Given the description of an element on the screen output the (x, y) to click on. 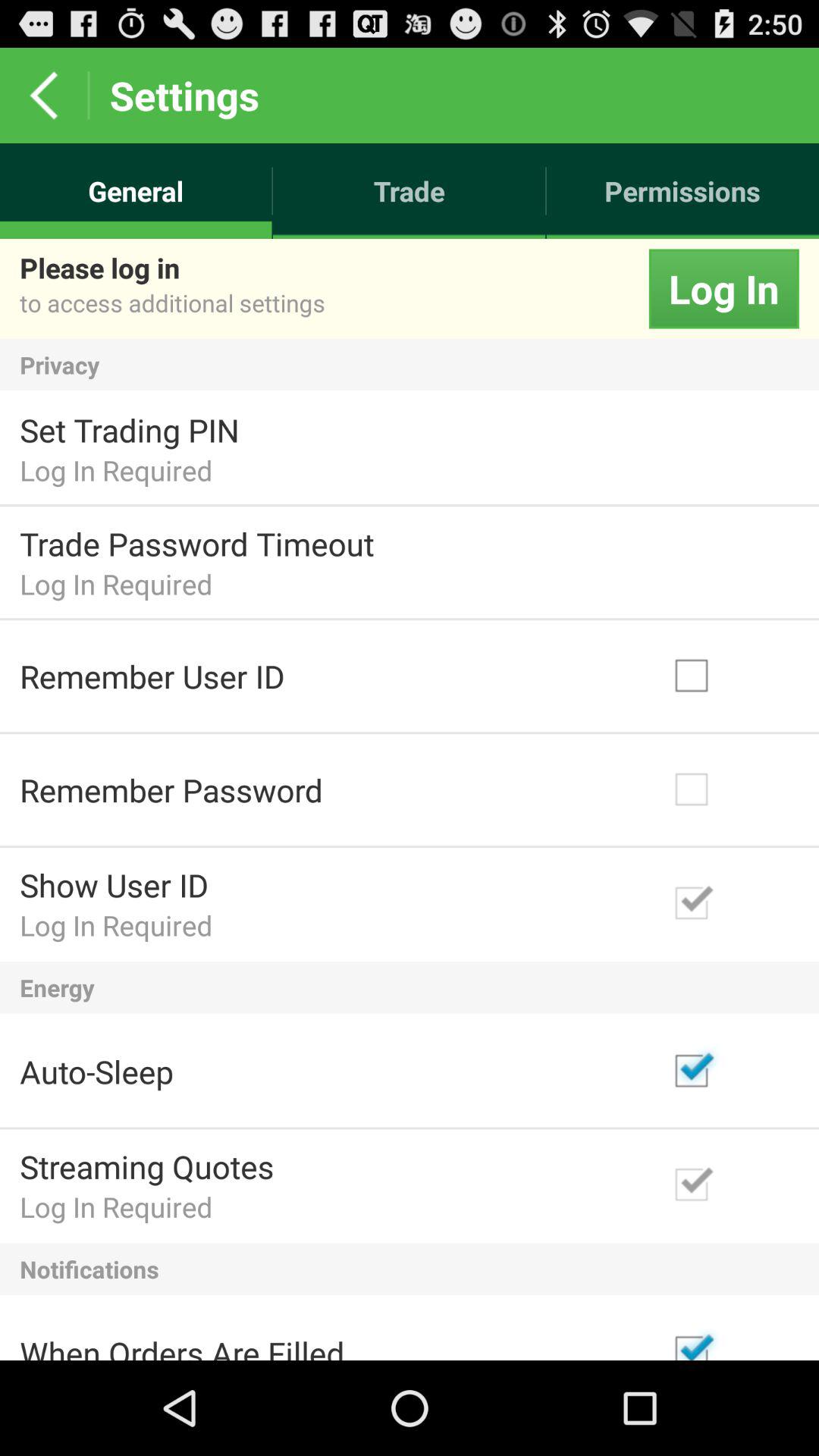
click the icon below log in required icon (409, 1269)
